Given the description of an element on the screen output the (x, y) to click on. 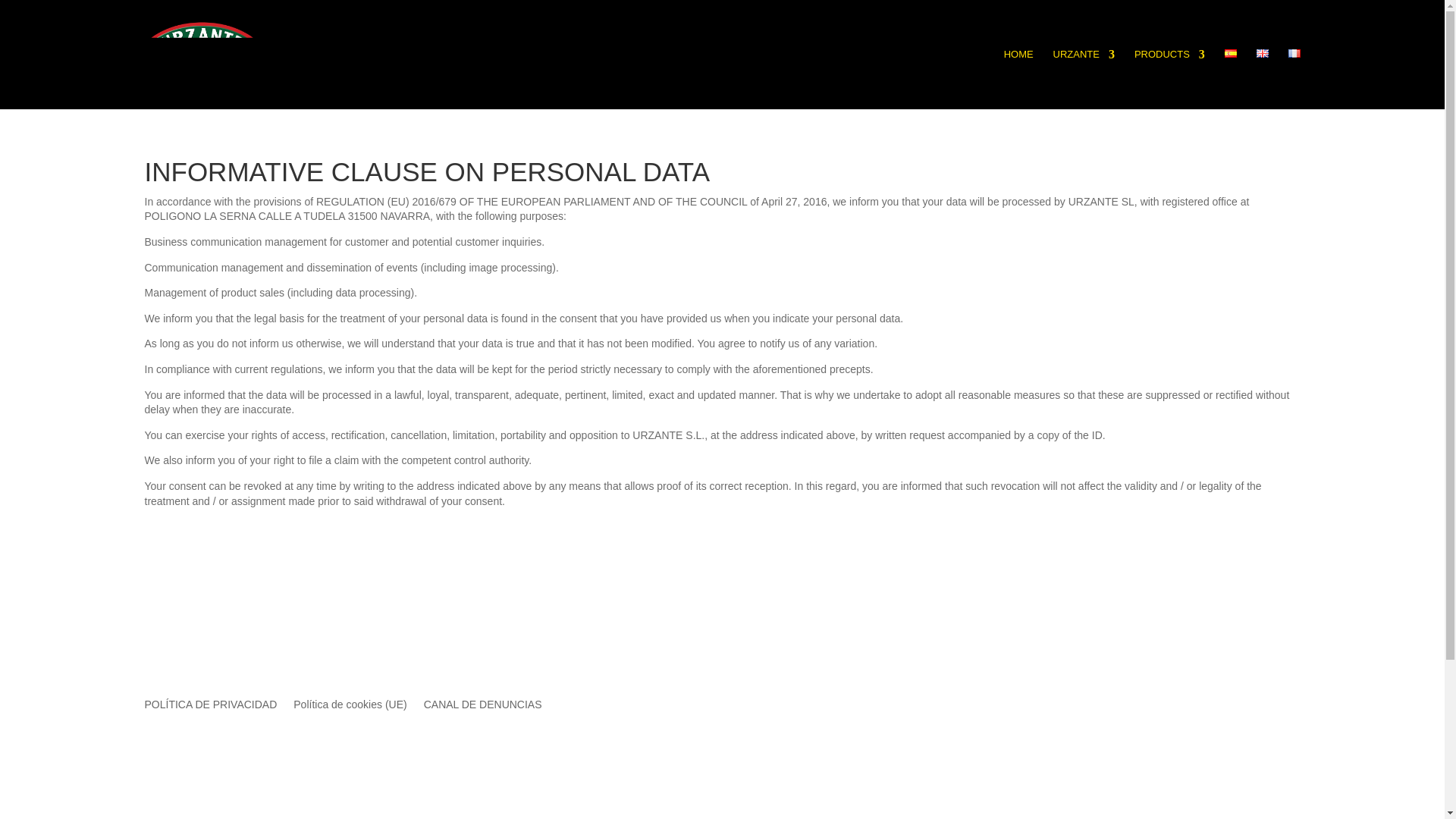
CANAL DE DENUNCIAS (482, 701)
URZANTE (1083, 78)
PRODUCTS (1169, 78)
